Given the description of an element on the screen output the (x, y) to click on. 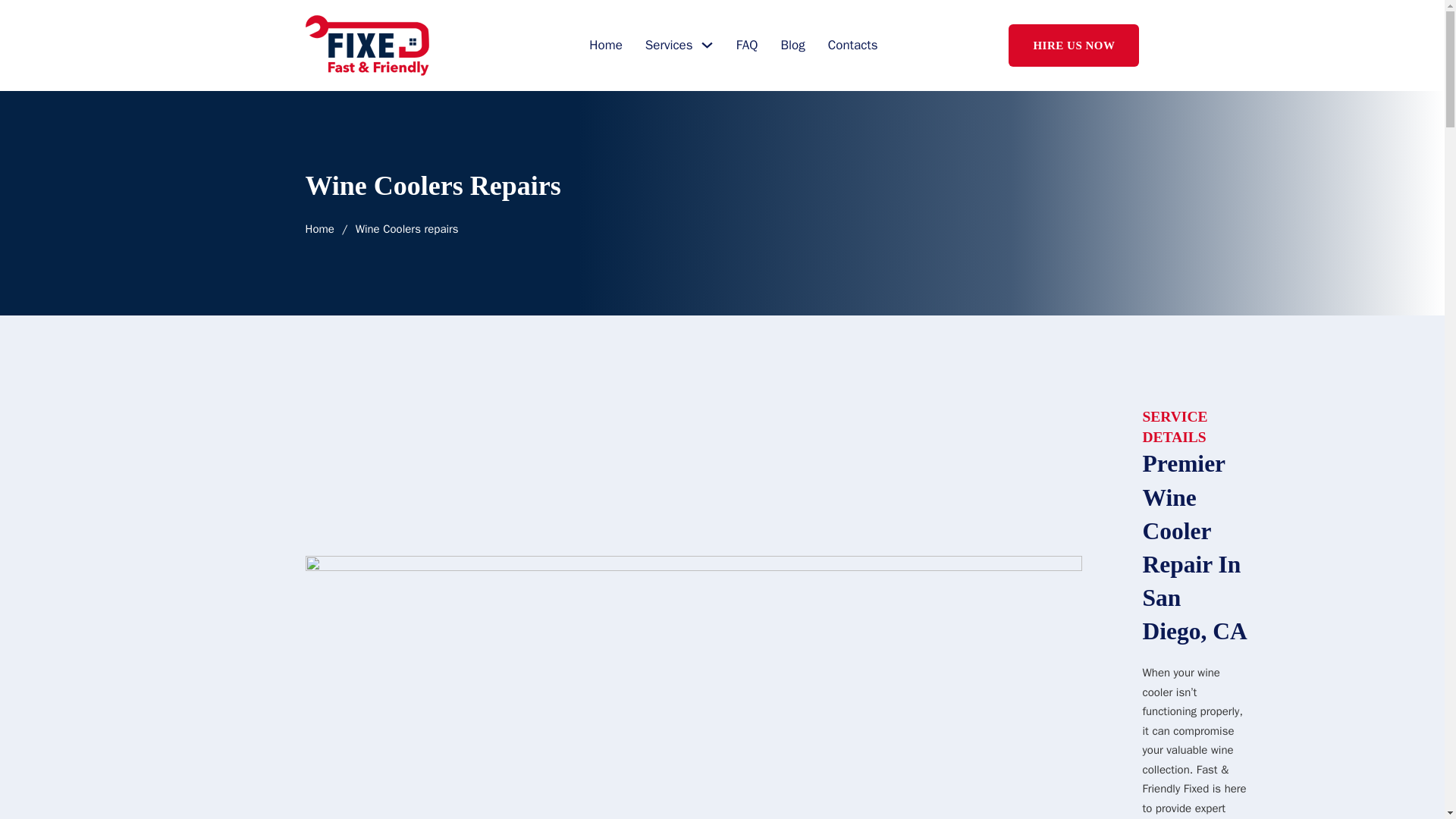
Blog (792, 45)
FAQ (747, 45)
Services (669, 45)
Home (605, 45)
Contacts (852, 45)
